Given the description of an element on the screen output the (x, y) to click on. 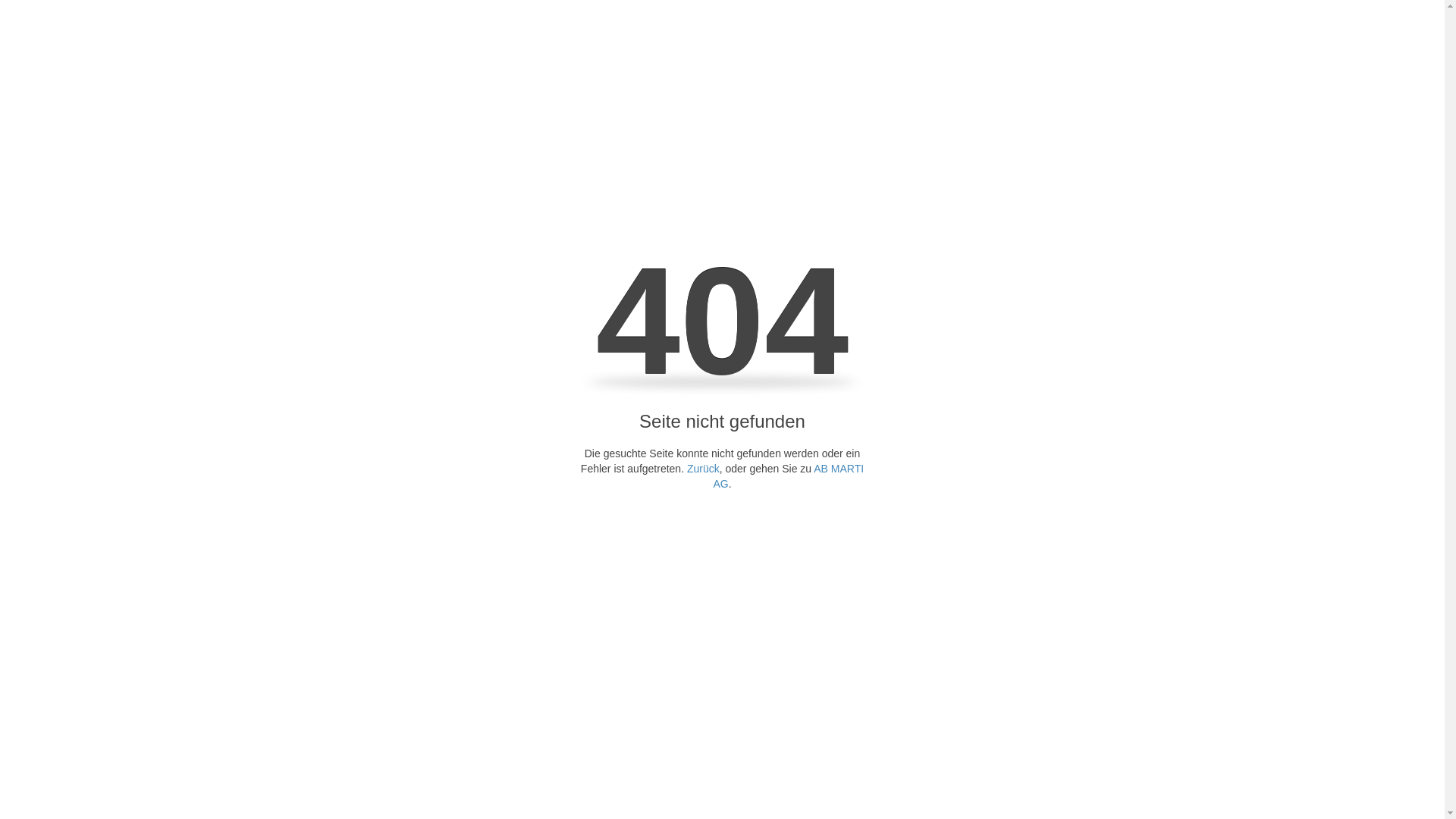
AB MARTI AG Element type: text (787, 475)
